Given the description of an element on the screen output the (x, y) to click on. 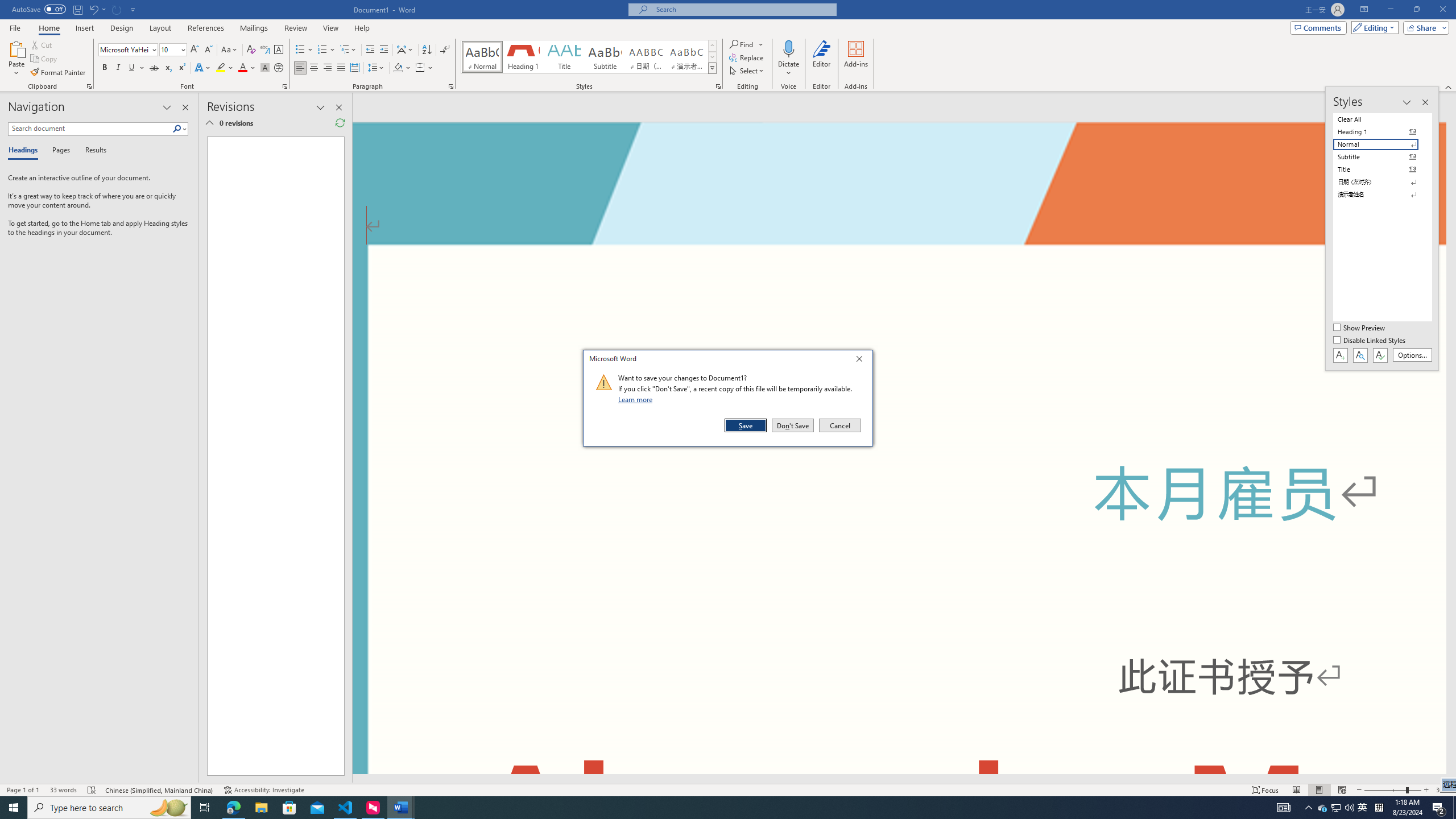
Distributed (354, 67)
Search document (89, 128)
File Tab (15, 27)
Borders (424, 67)
Cancel (839, 425)
Justify (340, 67)
Learn more (636, 399)
Help (361, 28)
Review (295, 28)
Ribbon Display Options (1364, 9)
Title (564, 56)
Minimize (1390, 9)
Insert (83, 28)
Font (124, 49)
